Given the description of an element on the screen output the (x, y) to click on. 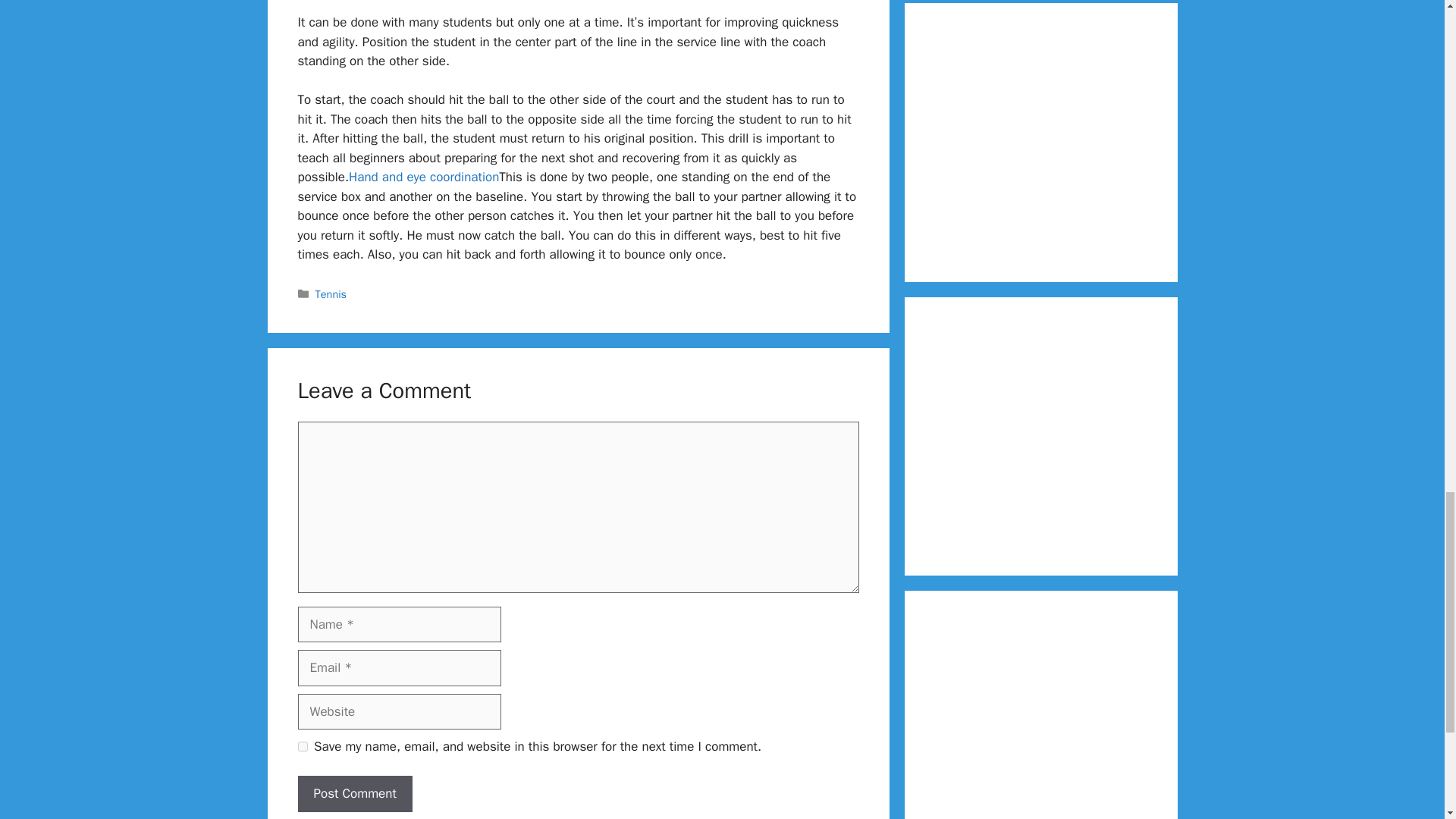
Tennis (331, 294)
Post Comment (354, 793)
yes (302, 746)
Hand and eye coordination (424, 176)
Post Comment (354, 793)
